Given the description of an element on the screen output the (x, y) to click on. 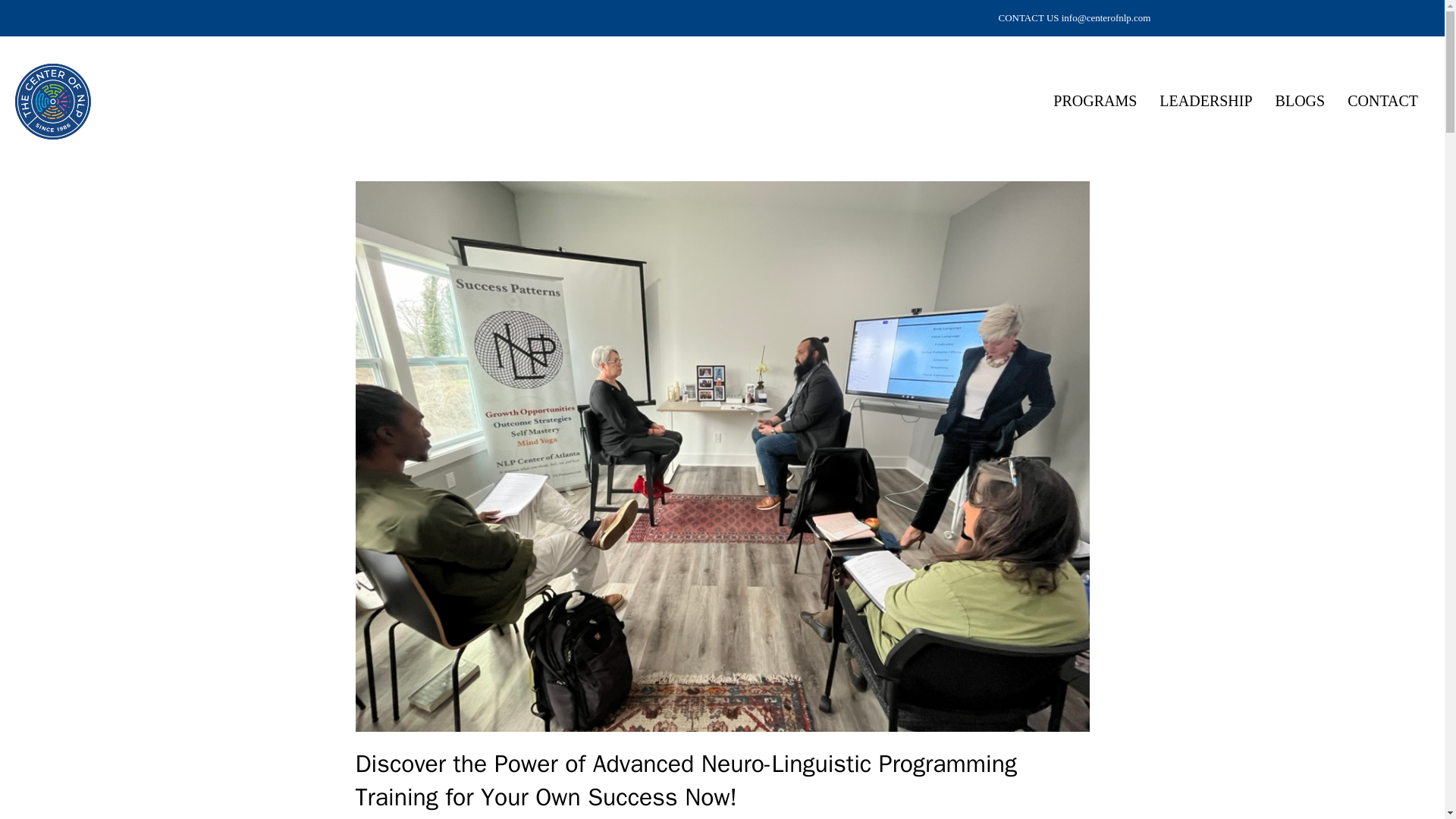
CONTACT (1382, 100)
PROGRAMS (1095, 100)
BLOGS (1299, 100)
LEADERSHIP (1205, 100)
